Given the description of an element on the screen output the (x, y) to click on. 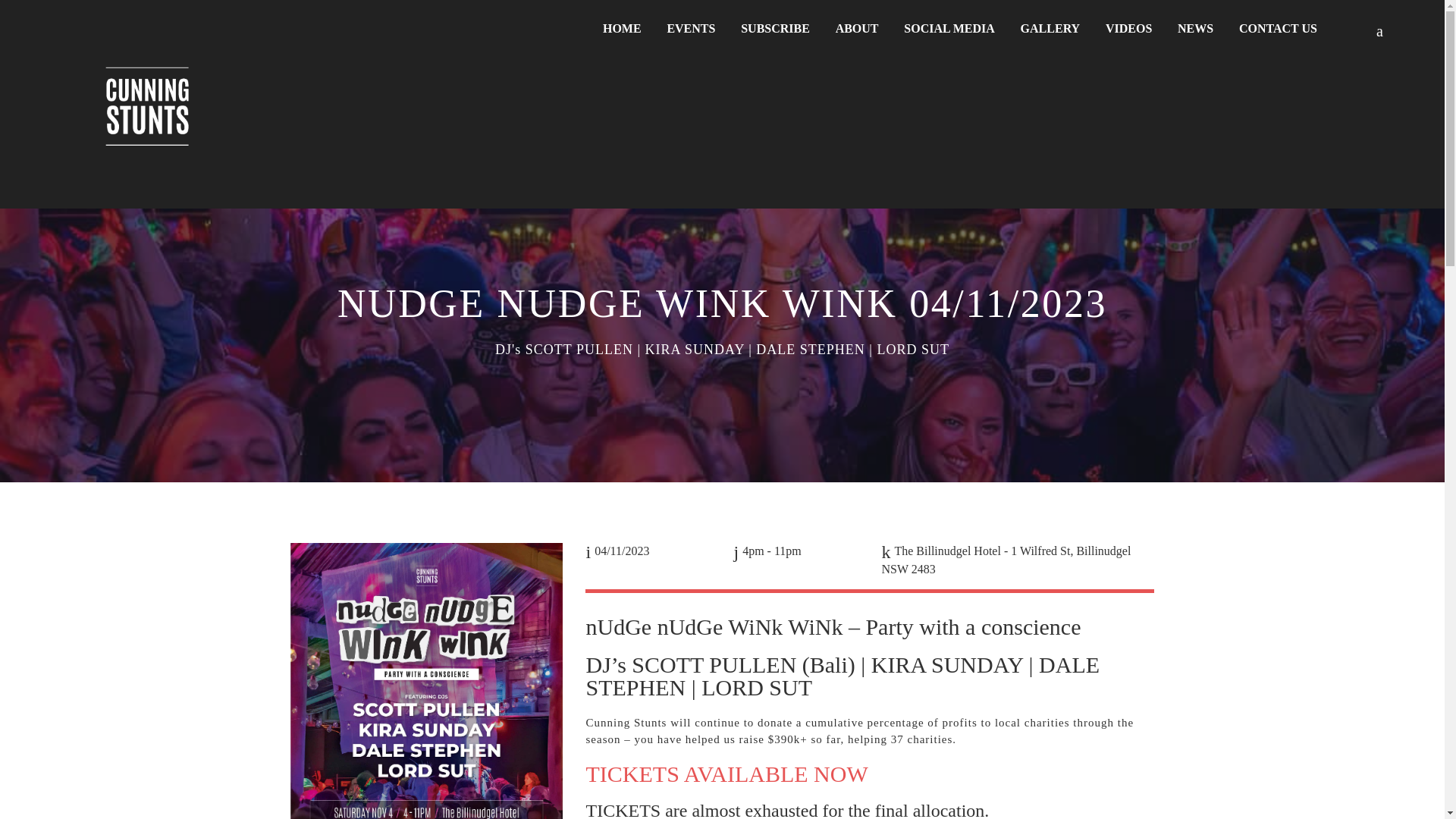
HOME (621, 28)
SUBSCRIBE (775, 28)
VIDEOS (1128, 28)
EVENTS (690, 28)
TICKETS AVAILABLE NOW (726, 773)
CONTACT US (1277, 28)
SOCIAL MEDIA (949, 28)
GALLERY (1050, 28)
NEWS (1195, 28)
ABOUT (856, 28)
